Given the description of an element on the screen output the (x, y) to click on. 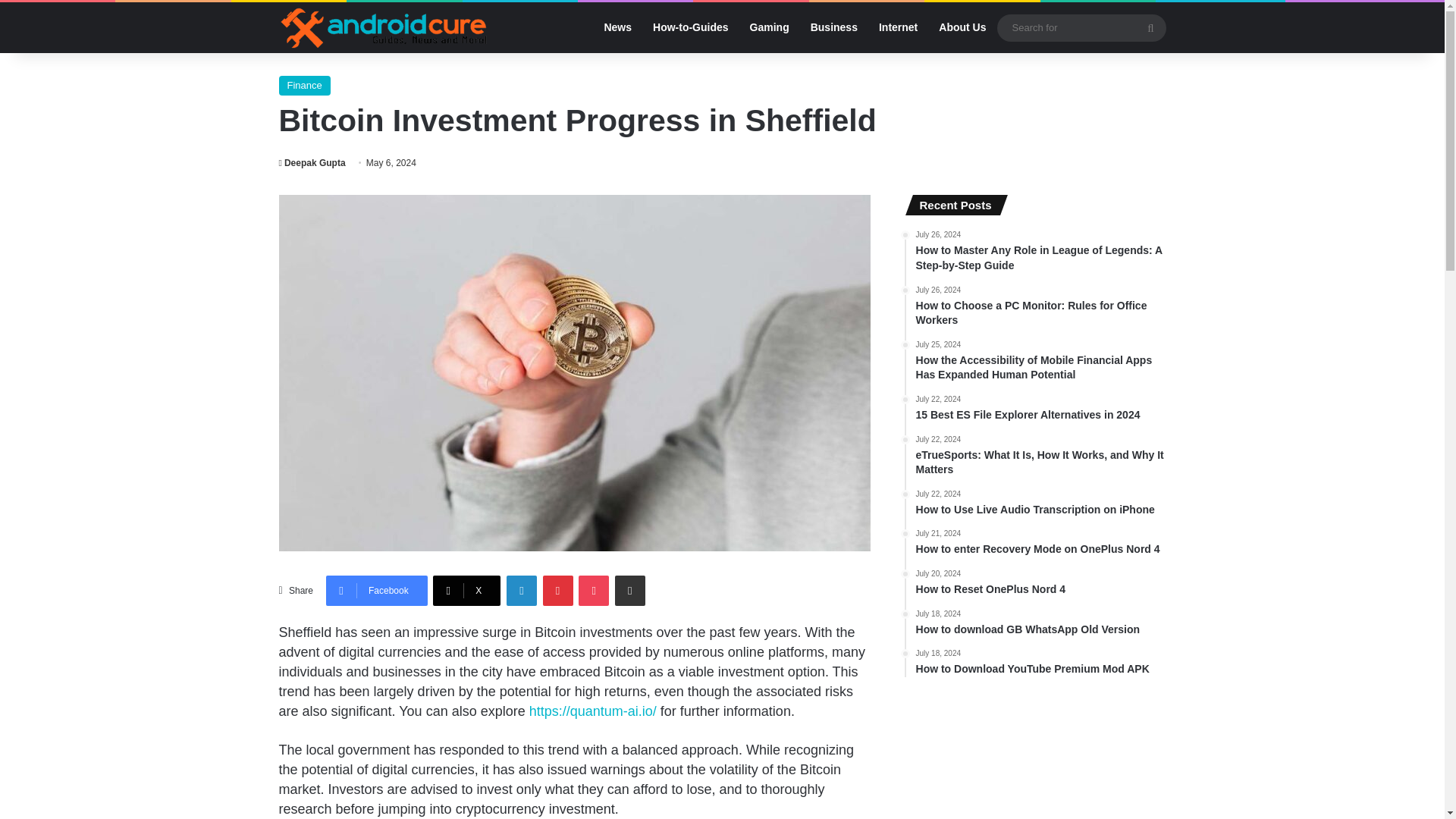
Share via Email (629, 590)
LinkedIn (521, 590)
X (466, 590)
About Us (961, 27)
Deepak Gupta (312, 163)
News (617, 27)
Pinterest (558, 590)
Pocket (593, 590)
How-to-Guides (690, 27)
LinkedIn (521, 590)
Search for (1150, 26)
Business (833, 27)
Finance (304, 85)
Pocket (593, 590)
Pinterest (558, 590)
